Given the description of an element on the screen output the (x, y) to click on. 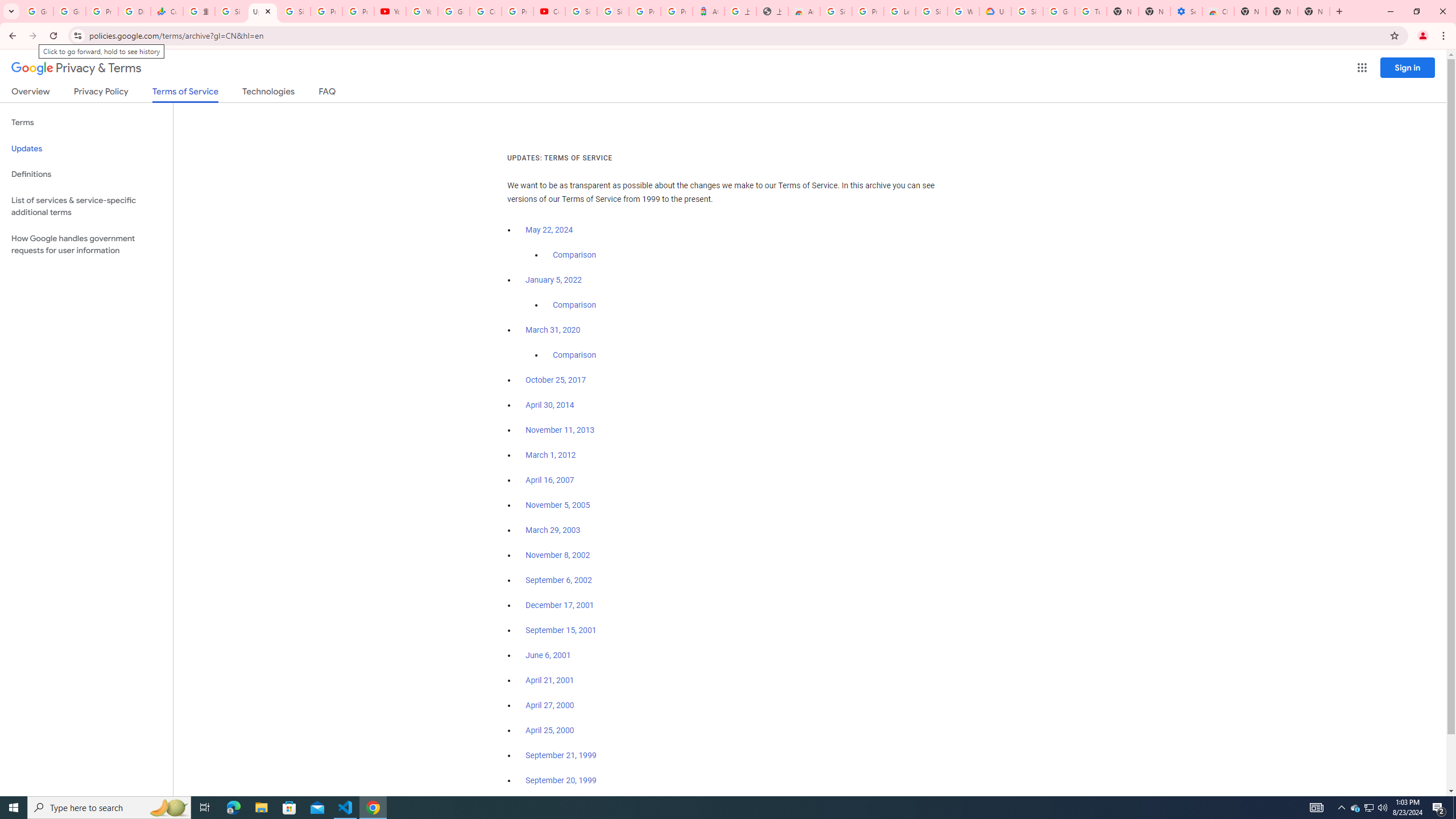
Who are Google's partners? - Privacy and conditions - Google (963, 11)
List of services & service-specific additional terms (86, 206)
New Tab (1249, 11)
Comparison (574, 355)
April 30, 2014 (550, 405)
September 15, 2001 (560, 629)
September 20, 1999 (560, 780)
